Given the description of an element on the screen output the (x, y) to click on. 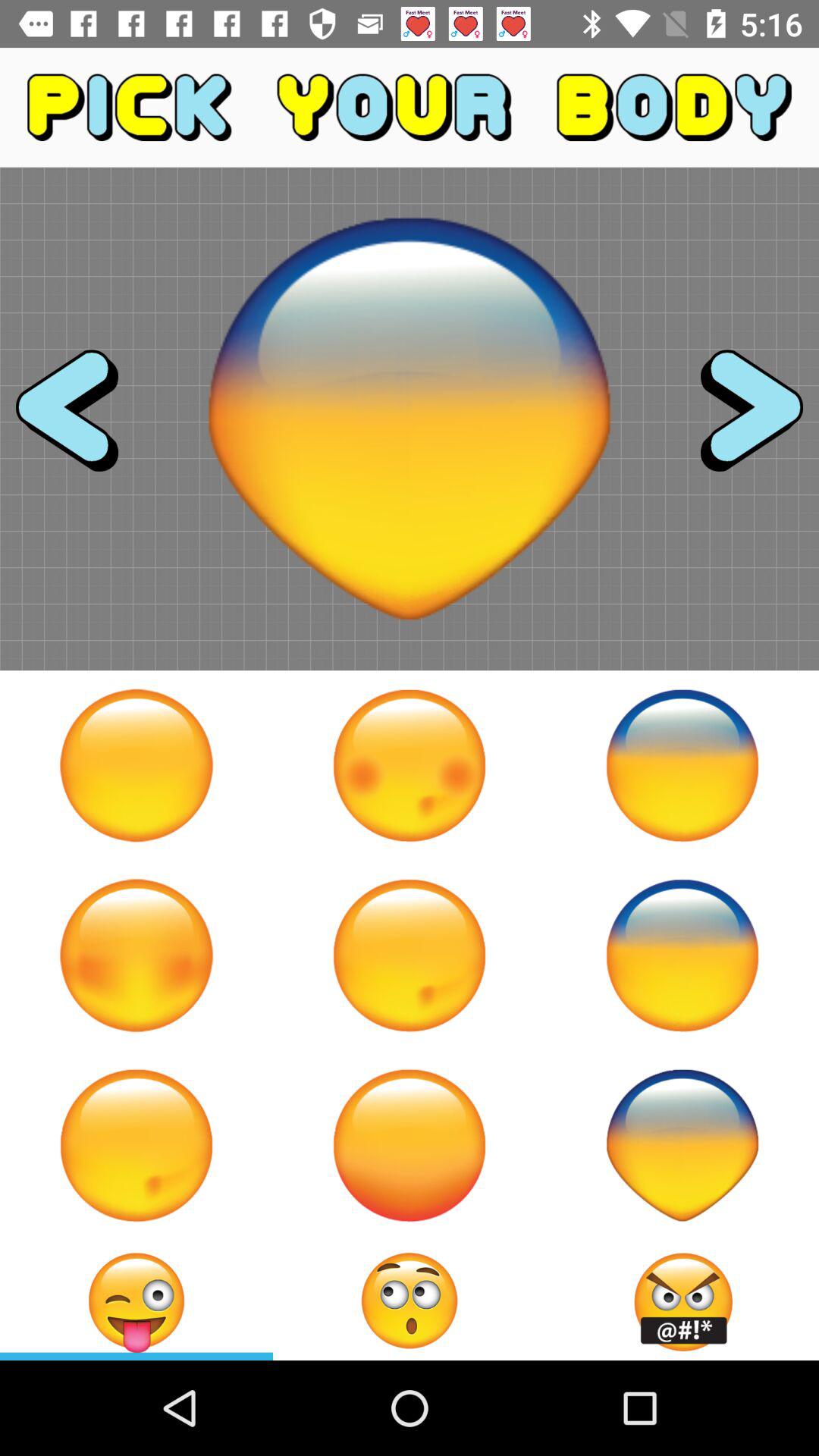
select emoji (136, 1300)
